Given the description of an element on the screen output the (x, y) to click on. 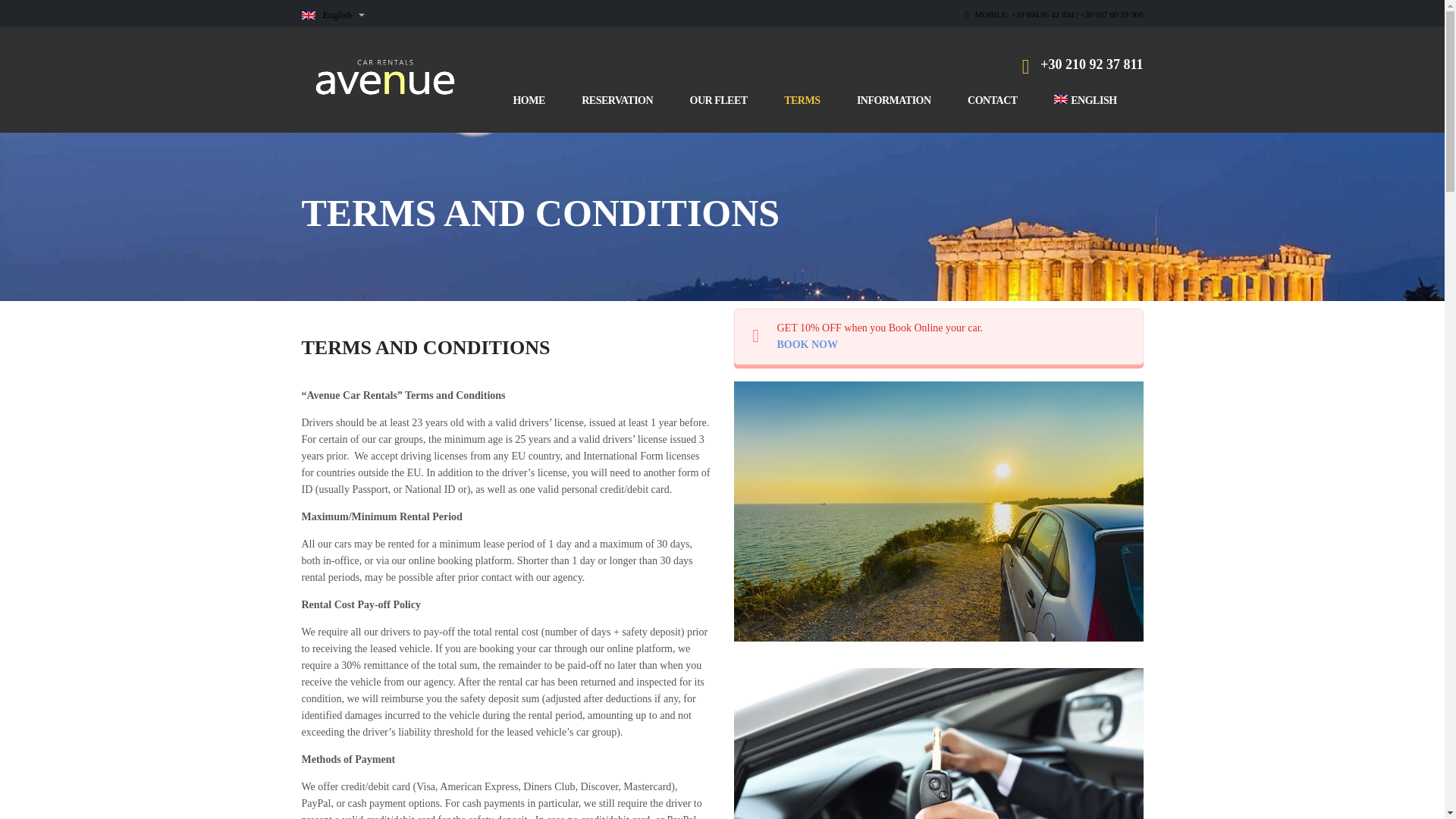
CONTACT (992, 100)
INFORMATION (894, 100)
RESERVATION (616, 100)
OUR FLEET (719, 100)
HOME (528, 100)
BOOK NOW (807, 344)
ENGLISH (1085, 100)
TERMS (801, 100)
Home (384, 78)
English (1085, 100)
